Given the description of an element on the screen output the (x, y) to click on. 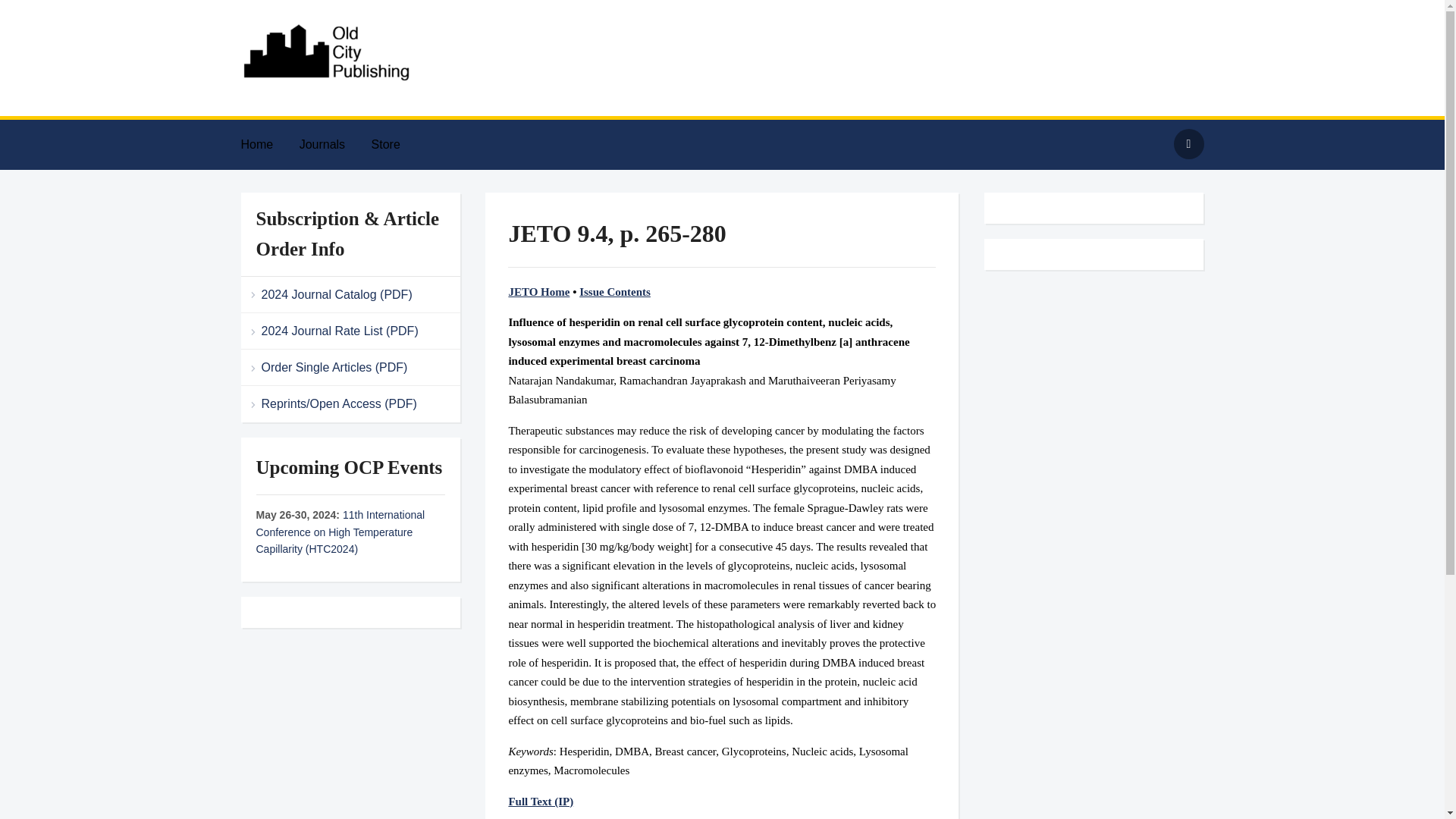
JETO Home (538, 291)
Issue Contents (614, 291)
Store (397, 144)
Search (1188, 143)
Journals (333, 144)
Home (269, 144)
